Given the description of an element on the screen output the (x, y) to click on. 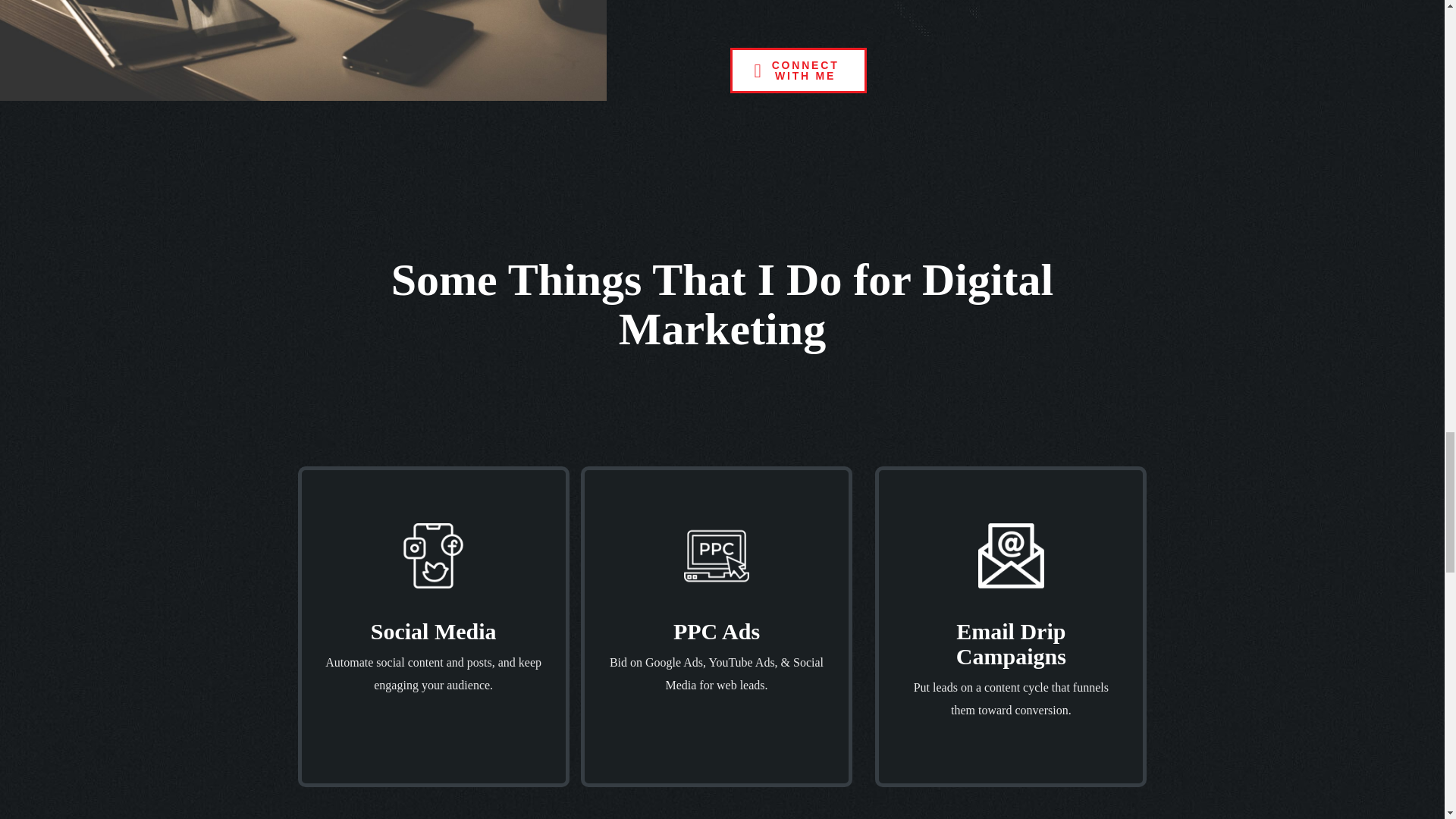
CONNECT WITH ME (797, 70)
youtube Video Player (303, 50)
